Given the description of an element on the screen output the (x, y) to click on. 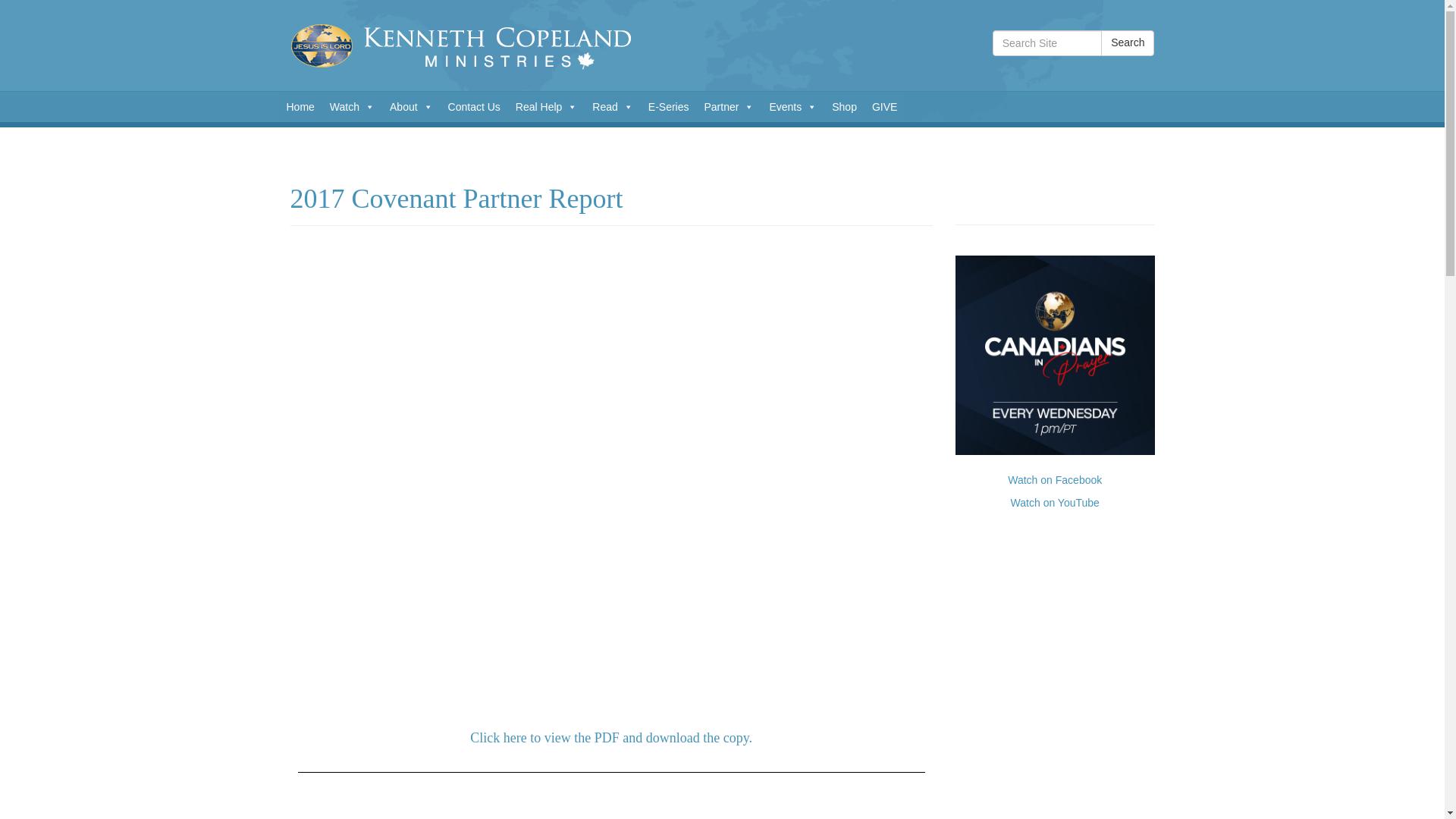
E-Series (668, 106)
About (411, 106)
Search Site: (1047, 43)
Kenneth Copeland Ministries (478, 45)
Contact Us (474, 106)
Watch (351, 106)
Home (300, 106)
Search (1127, 43)
Read (612, 106)
Real Help (546, 106)
